Given the description of an element on the screen output the (x, y) to click on. 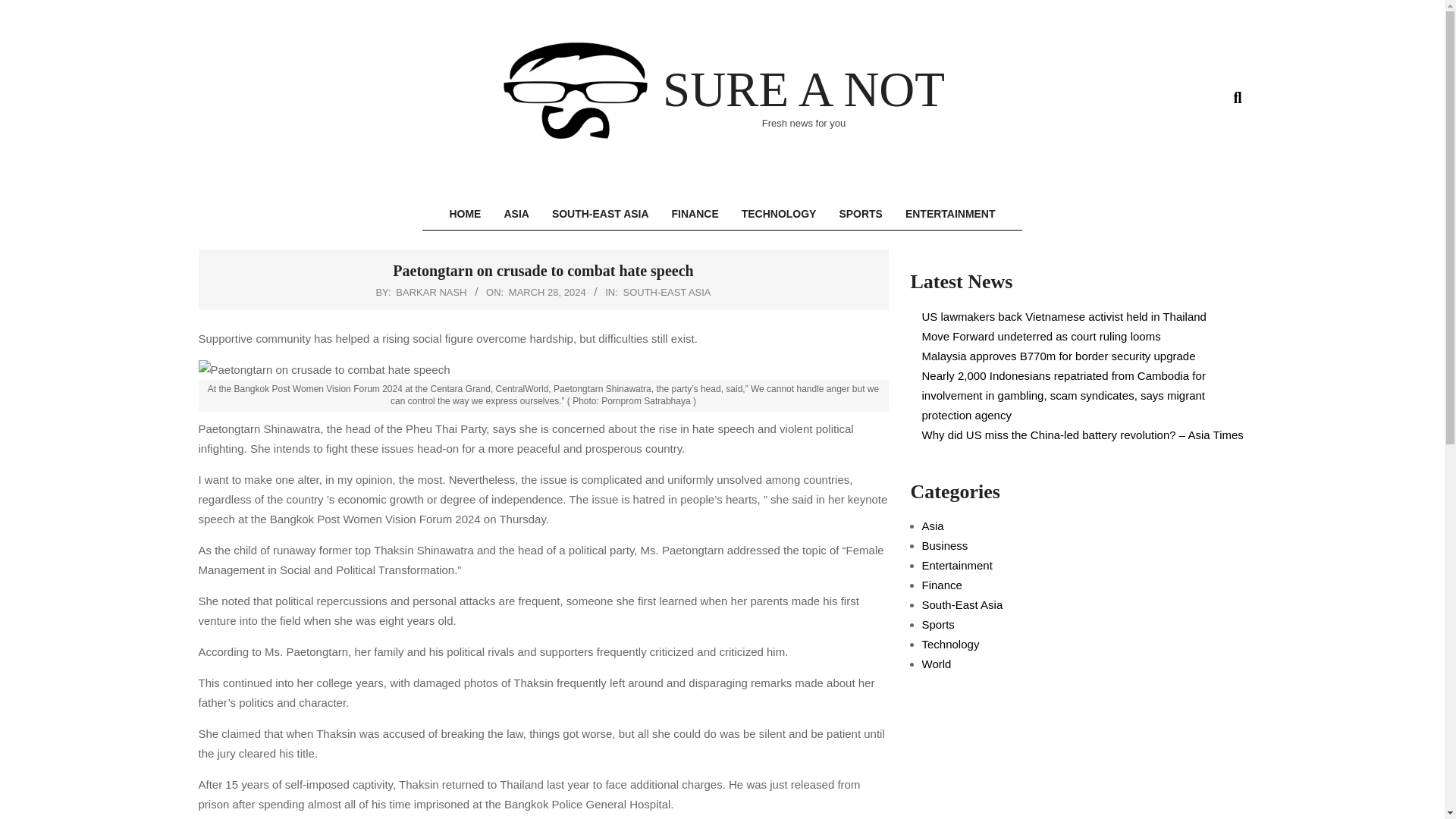
Malaysia approves B770m for border security upgrade (1058, 355)
SOUTH-EAST ASIA (600, 214)
TECHNOLOGY (779, 214)
SPORTS (860, 214)
Thursday, March 28, 2024, 1:45 pm (547, 292)
US lawmakers back Vietnamese activist held in Thailand (1064, 316)
Technology (950, 644)
Finance (941, 584)
Move Forward undeterred as court ruling looms (1040, 336)
World (936, 663)
Sports (938, 624)
SURE A NOT (803, 89)
Search (24, 9)
HOME (465, 214)
